Given the description of an element on the screen output the (x, y) to click on. 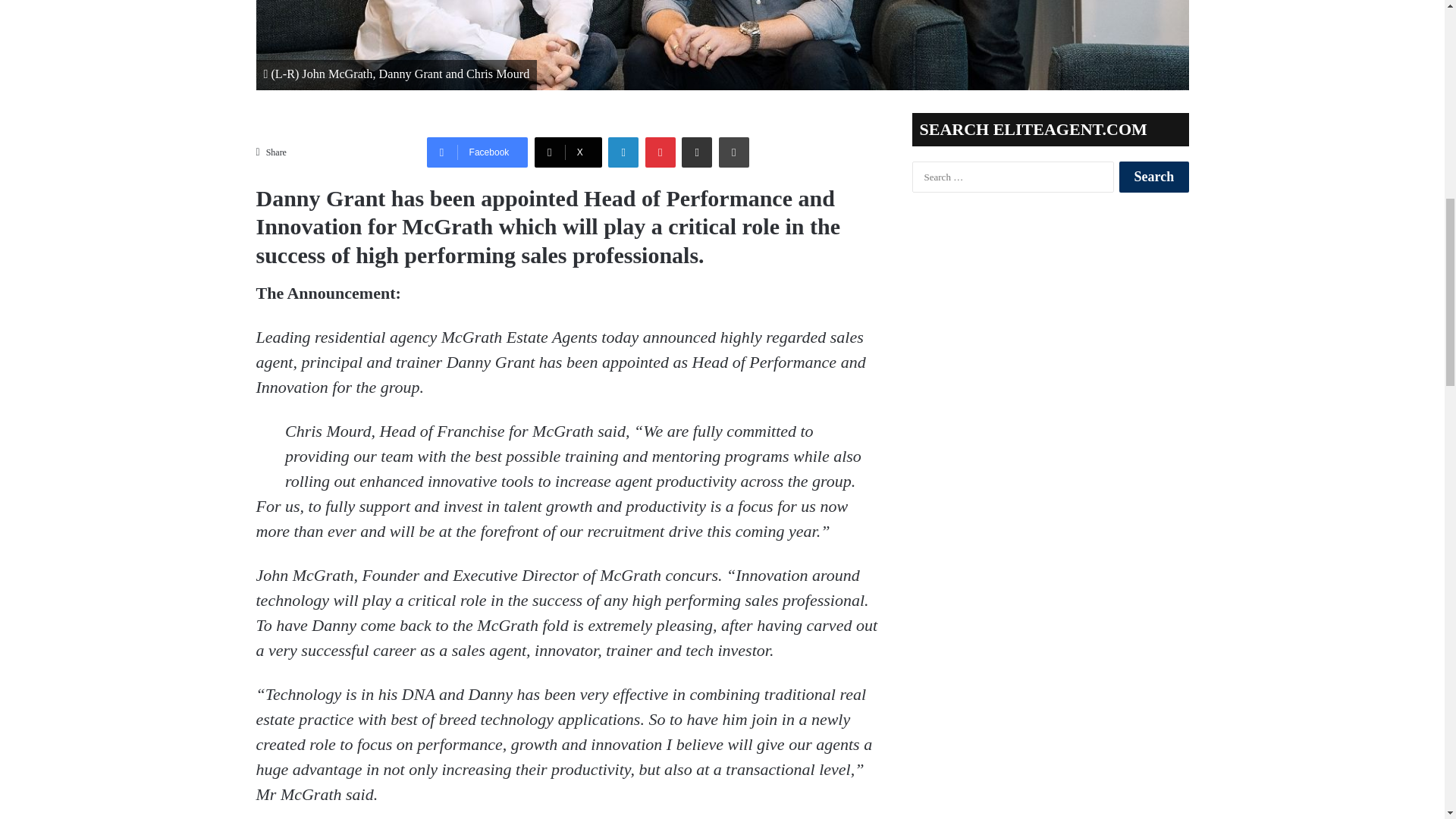
LinkedIn (623, 152)
Pinterest (660, 152)
Search (1153, 176)
X (568, 152)
Facebook (477, 152)
Share via Email (696, 152)
Search (1153, 176)
Print (734, 152)
